Given the description of an element on the screen output the (x, y) to click on. 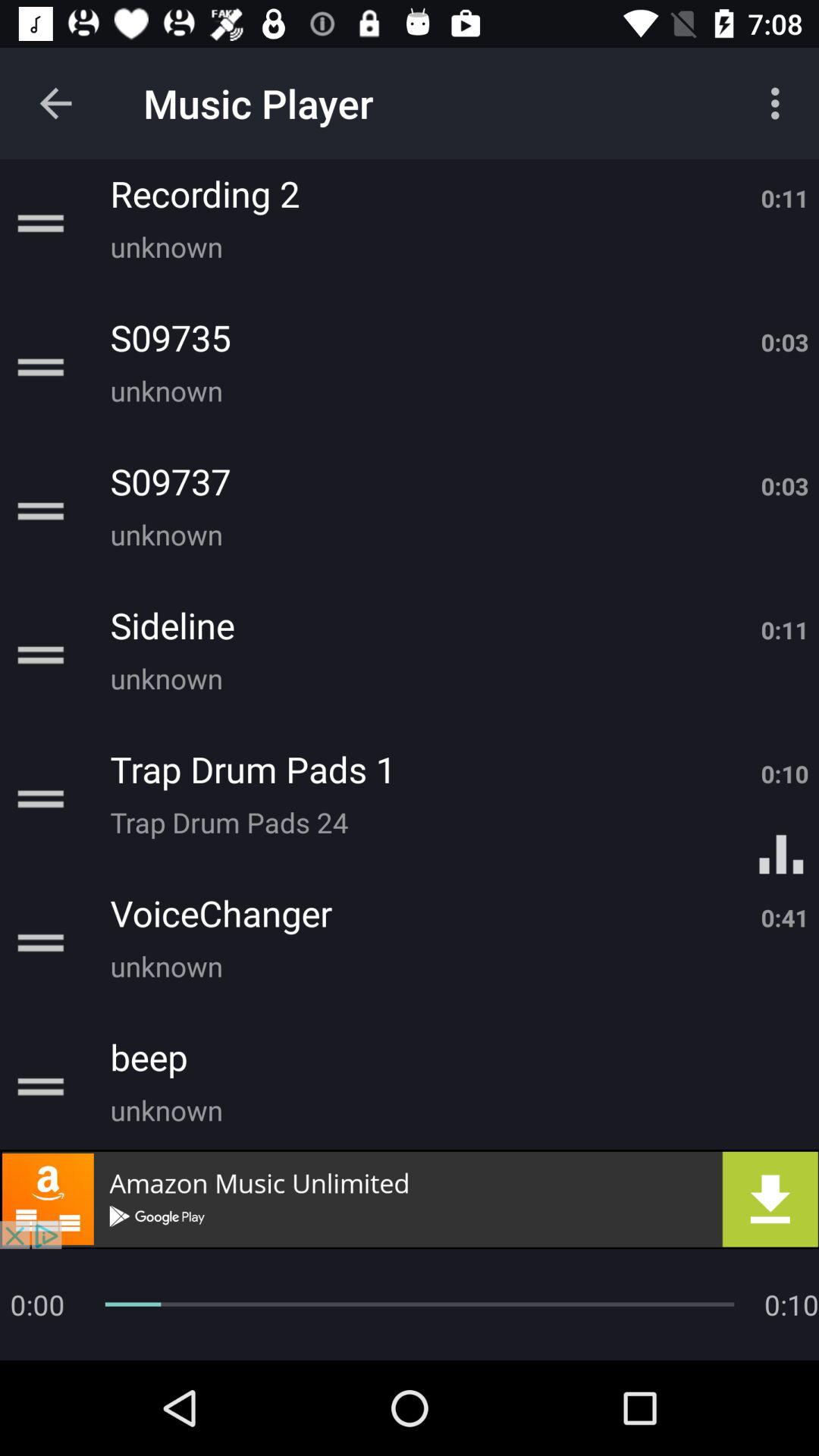
open advertisement (409, 1198)
